Given the description of an element on the screen output the (x, y) to click on. 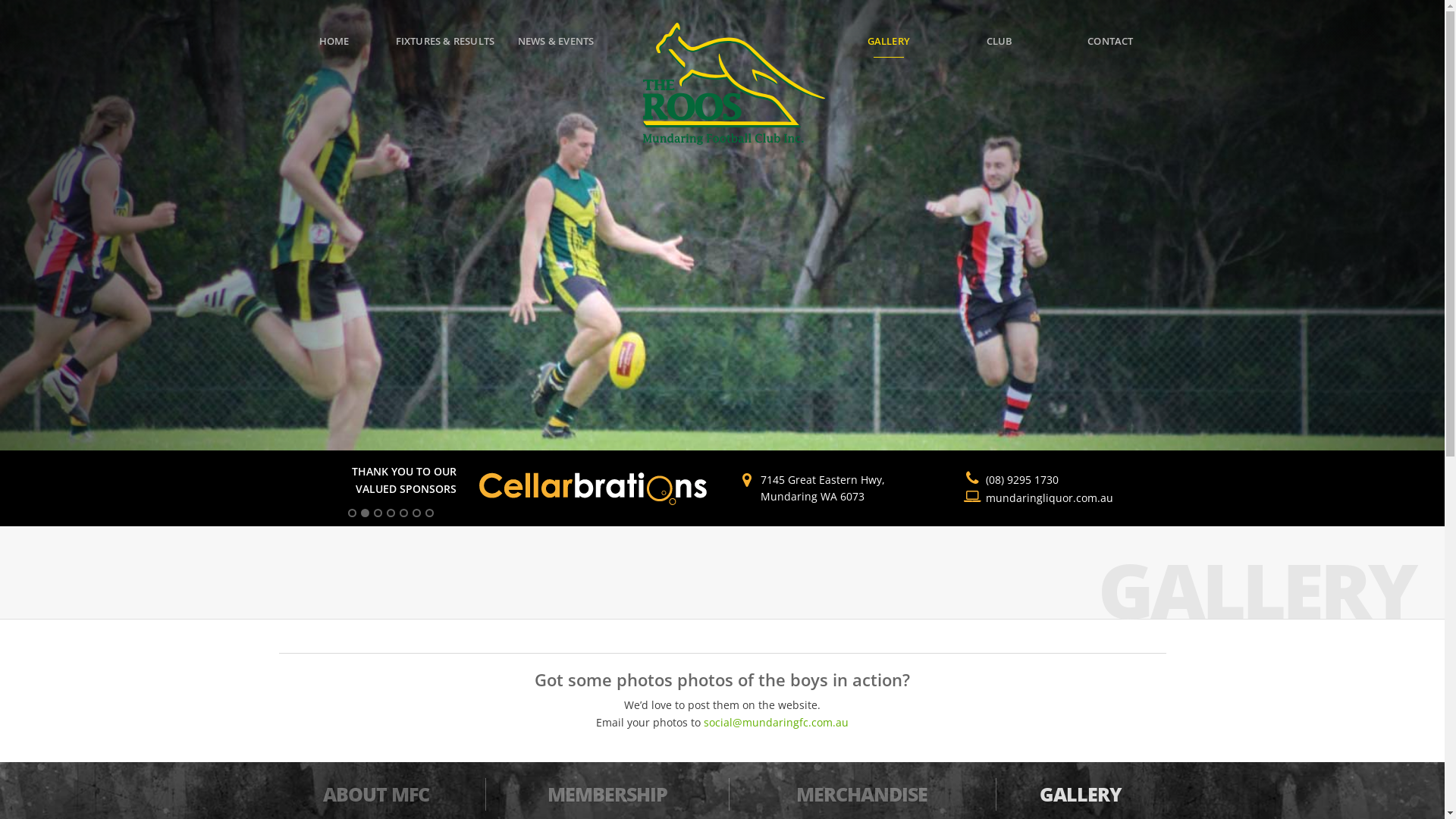
NEWS & EVENTS Element type: text (555, 41)
3 Element type: text (377, 512)
FIXTURES & RESULTS Element type: text (444, 41)
social@mundaringfc.com.au Element type: text (775, 722)
GALLERY Element type: text (888, 41)
4 Element type: text (390, 512)
6 Element type: text (416, 512)
mundaringliquor.com.au Element type: text (1049, 497)
CLUB Element type: text (999, 41)
1 Element type: text (352, 512)
5 Element type: text (403, 512)
7 Element type: text (429, 512)
2 Element type: text (364, 512)
HOME Element type: text (334, 41)
CONTACT Element type: text (1109, 41)
